Given the description of an element on the screen output the (x, y) to click on. 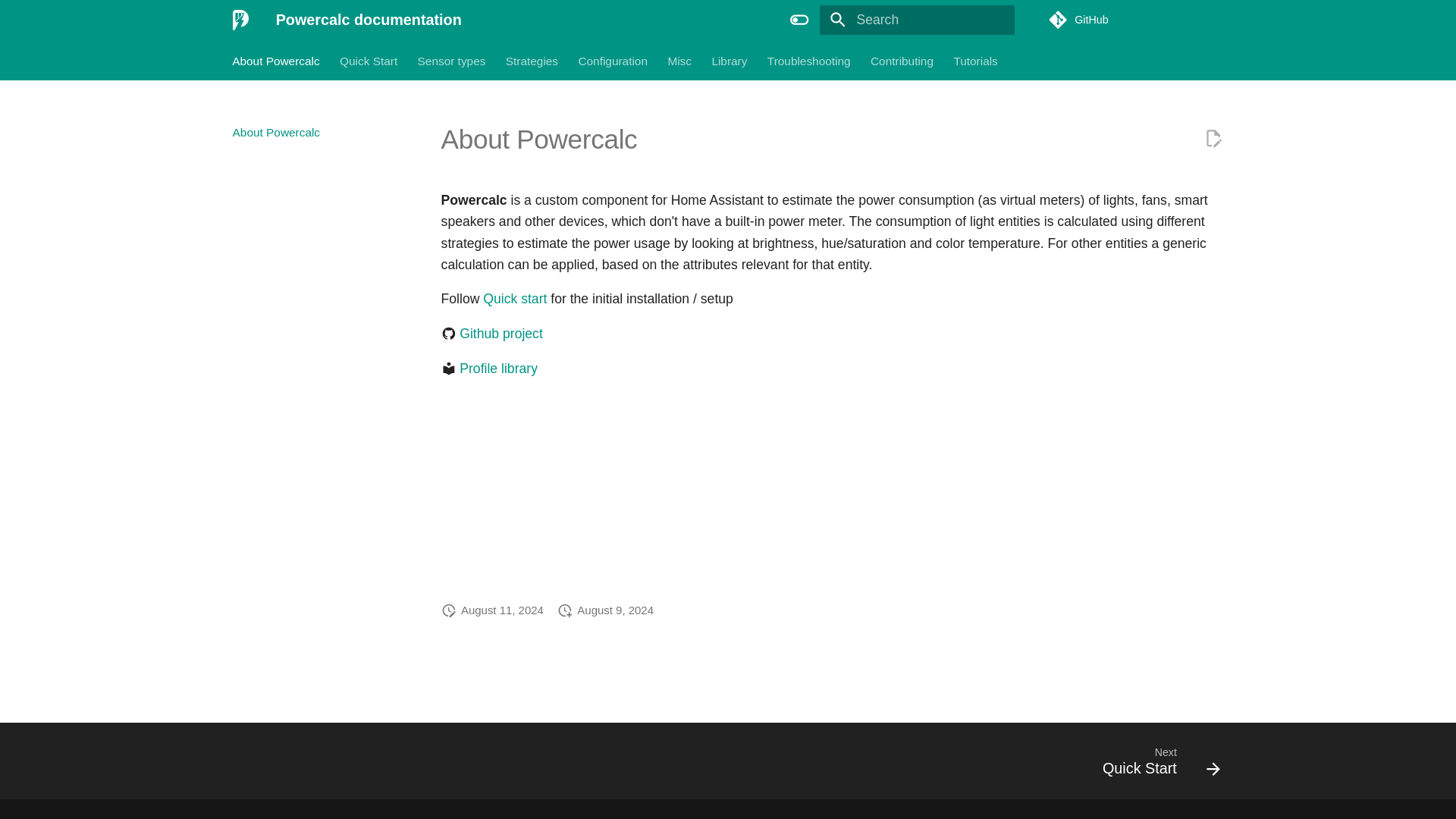
Edit this page (1213, 138)
Contributing (901, 60)
Strategies (531, 60)
About Powercalc (319, 132)
About Powercalc (276, 60)
Created (564, 610)
Troubleshooting (808, 60)
Last update (449, 610)
Quick Start (368, 60)
Library (729, 60)
